Given the description of an element on the screen output the (x, y) to click on. 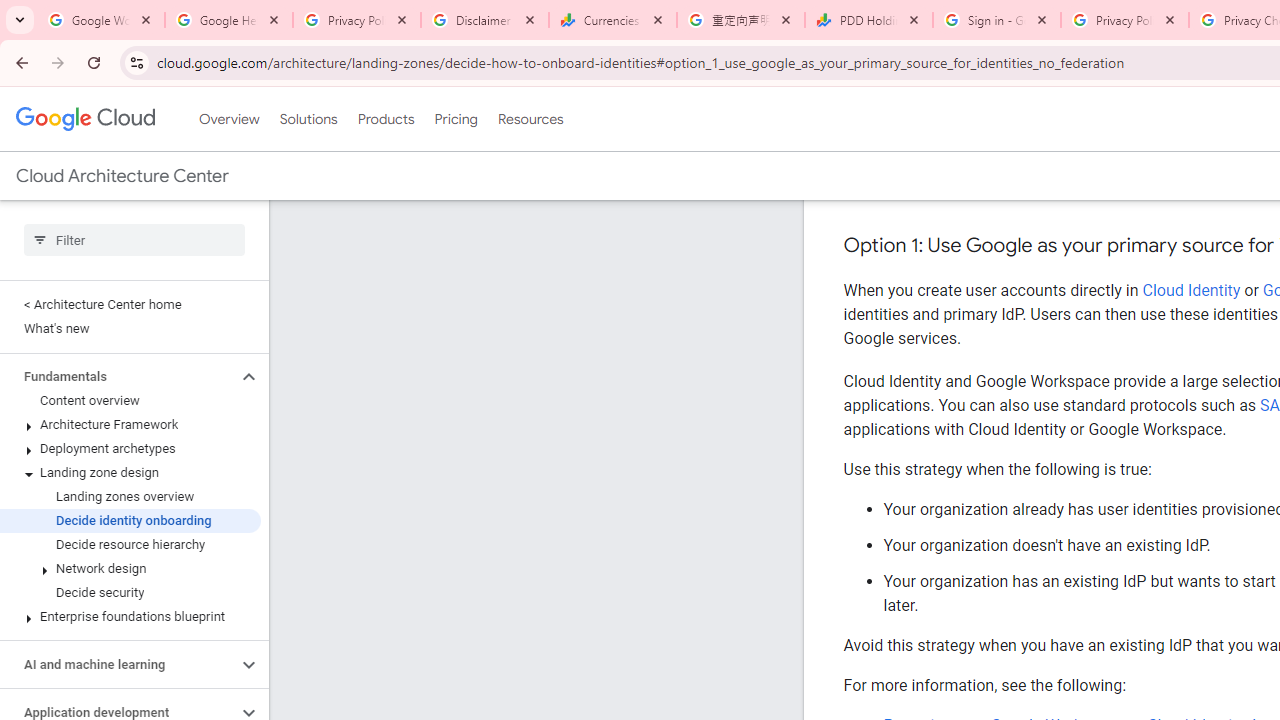
Google Workspace Admin Community (101, 20)
Pricing (455, 119)
Network design (130, 569)
Landing zone design (130, 472)
Enterprise foundations blueprint (130, 616)
Deployment archetypes (130, 448)
PDD Holdings Inc - ADR (PDD) Price & News - Google Finance (869, 20)
Fundamentals (118, 376)
Cloud Identity (1191, 290)
Products (385, 119)
Cloud Architecture Center (122, 175)
